Given the description of an element on the screen output the (x, y) to click on. 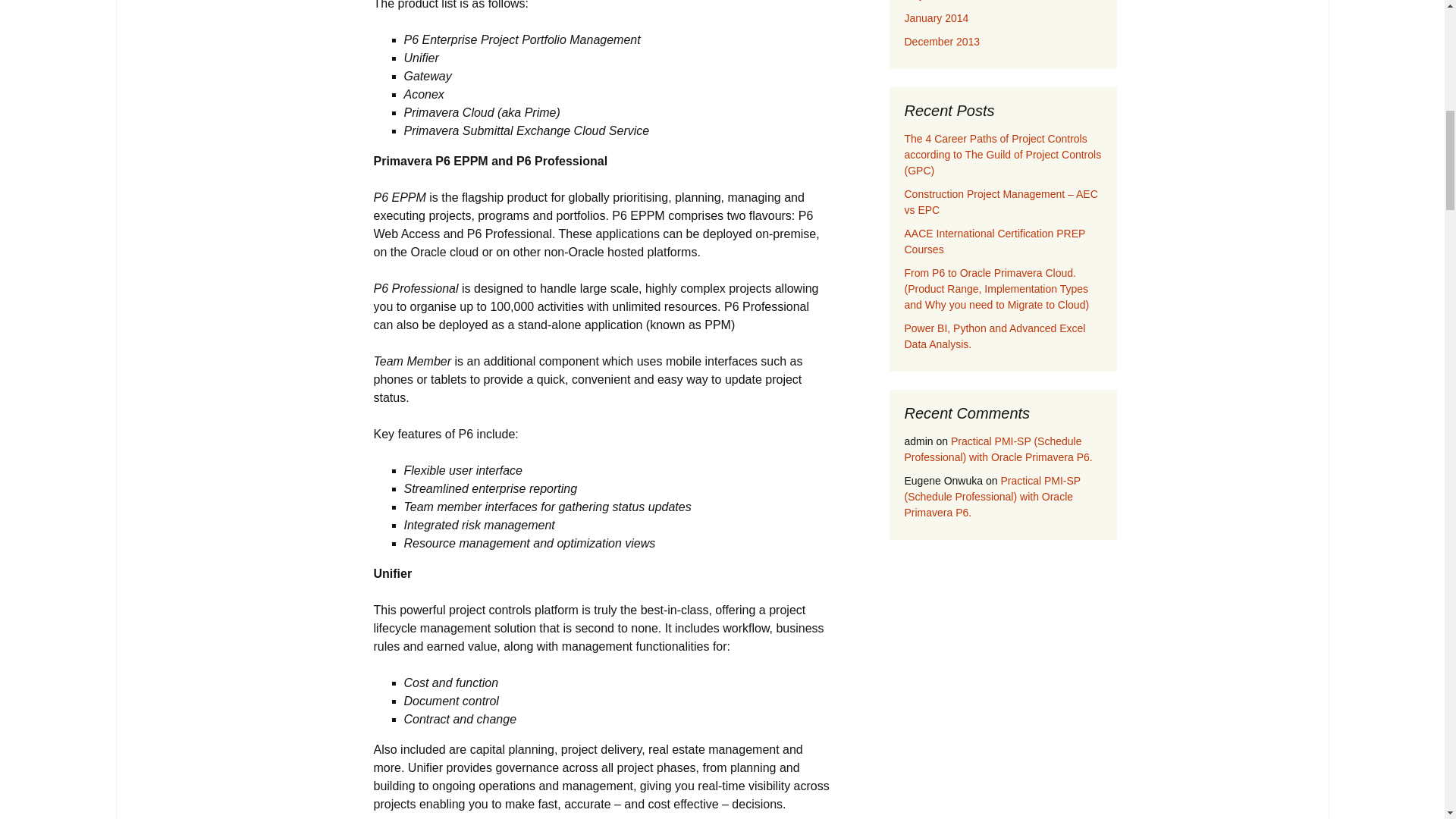
May 2016 (927, 0)
December 2013 (941, 41)
January 2014 (936, 18)
AACE International Certification PREP Courses (994, 241)
